Given the description of an element on the screen output the (x, y) to click on. 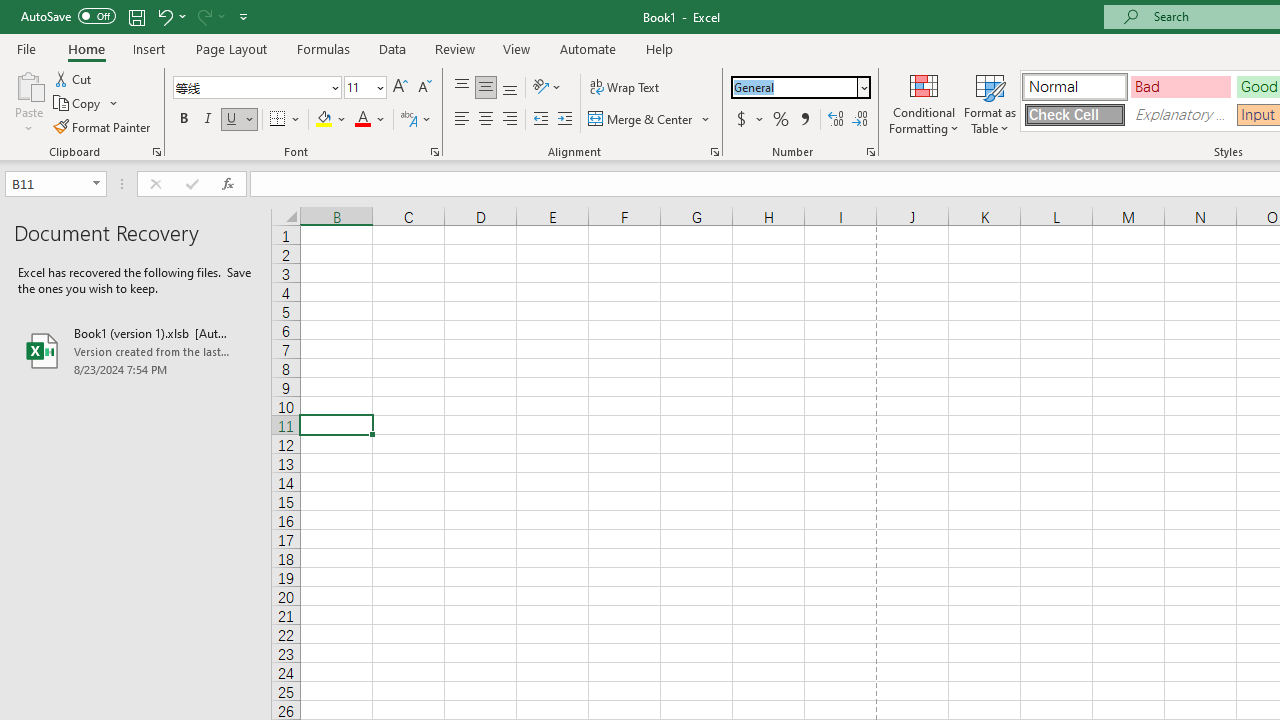
Align Left (461, 119)
Format Cell Font (434, 151)
Orientation (547, 87)
Underline (239, 119)
Number Format (800, 87)
Top Align (461, 87)
Format Painter (103, 126)
Bottom Border (278, 119)
Explanatory Text (1180, 114)
Bold (183, 119)
Borders (285, 119)
